Given the description of an element on the screen output the (x, y) to click on. 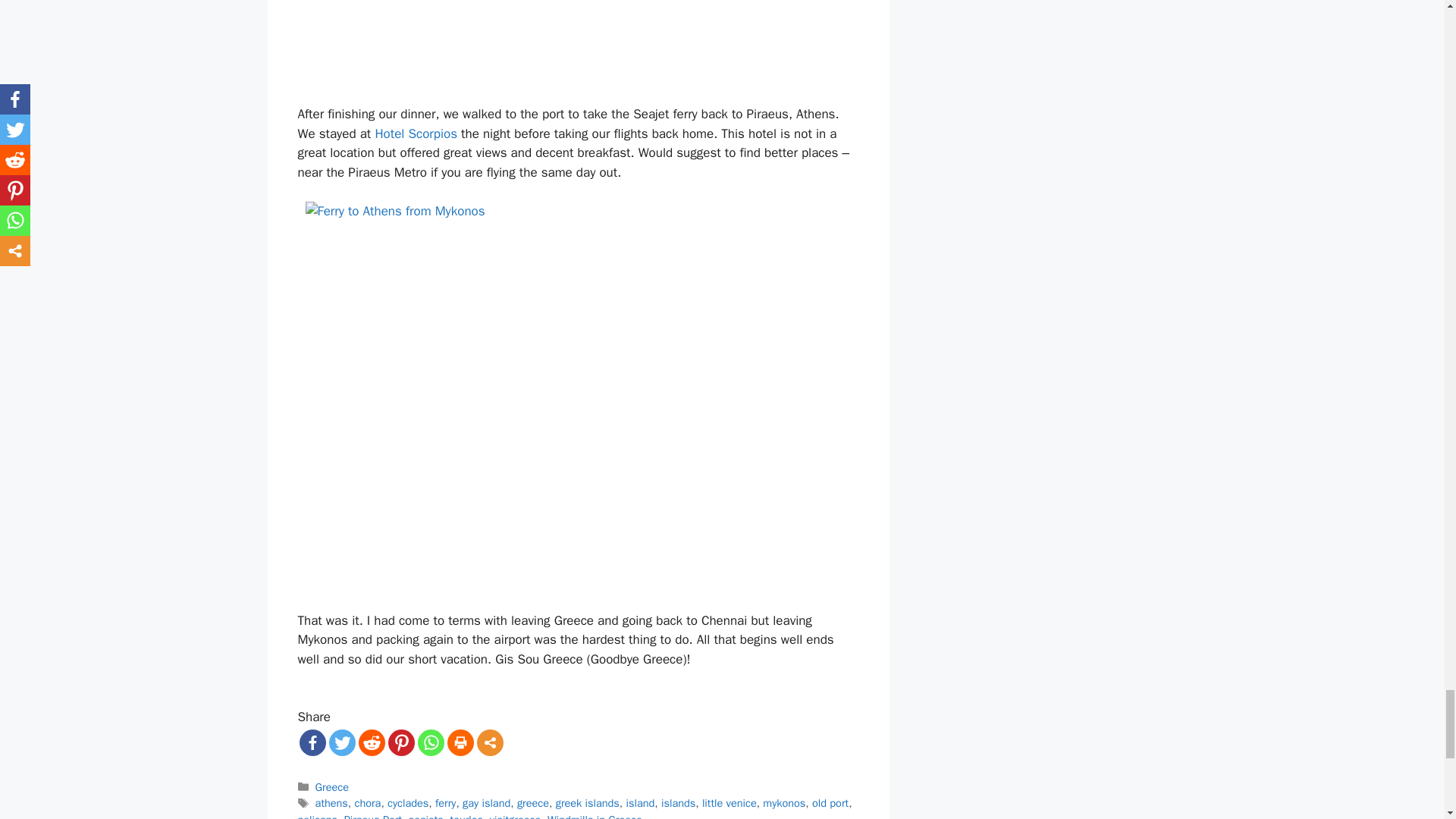
athens (331, 802)
Greece (332, 786)
chora (368, 802)
Print (460, 742)
Pinterest (401, 742)
Twitter (342, 742)
Whatsapp (430, 742)
More (489, 742)
Facebook (311, 742)
cyclades (407, 802)
